Given the description of an element on the screen output the (x, y) to click on. 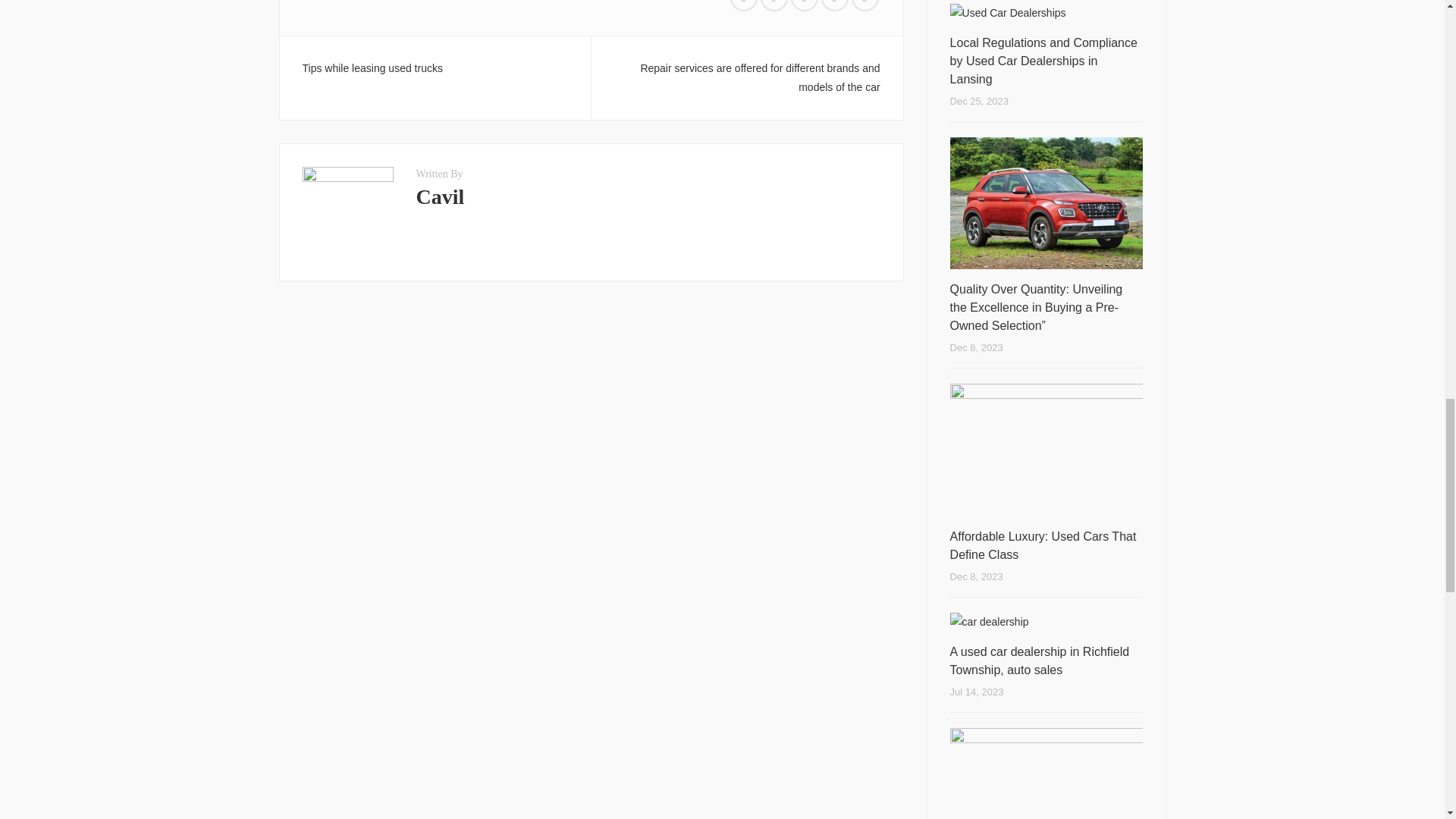
Posts by Cavil (439, 196)
Tips while leasing used trucks (371, 68)
Cavil (439, 196)
